Given the description of an element on the screen output the (x, y) to click on. 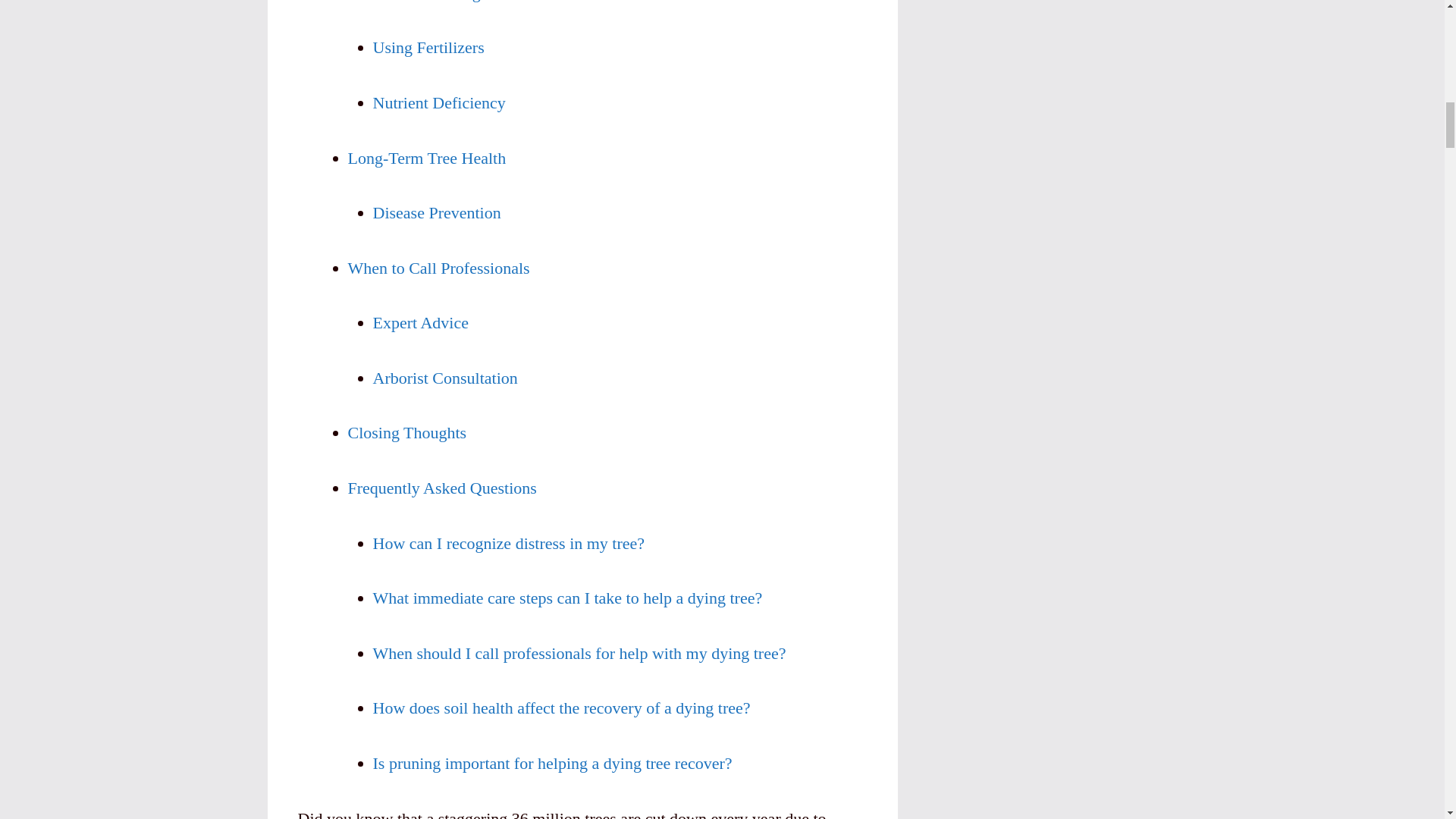
Expert Advice (420, 322)
Disease Prevention (436, 212)
Long-Term Tree Health (426, 157)
Using Fertilizers (428, 46)
Fertilization Strategies (423, 1)
When to Call Professionals (438, 267)
Nutrient Deficiency (438, 102)
